Given the description of an element on the screen output the (x, y) to click on. 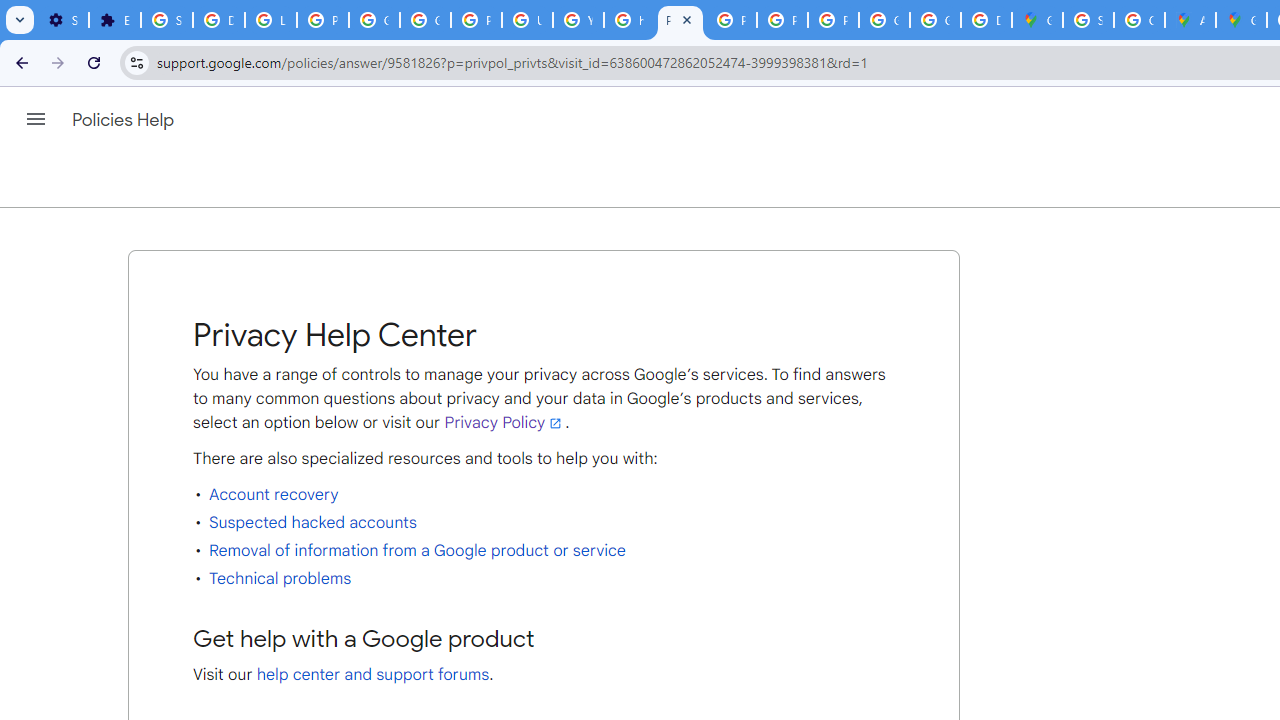
Google Maps (1241, 20)
Suspected hacked accounts (312, 522)
Technical problems (280, 578)
Removal of information from a Google product or service (416, 550)
Account recovery (273, 494)
Google Maps (1037, 20)
